Given the description of an element on the screen output the (x, y) to click on. 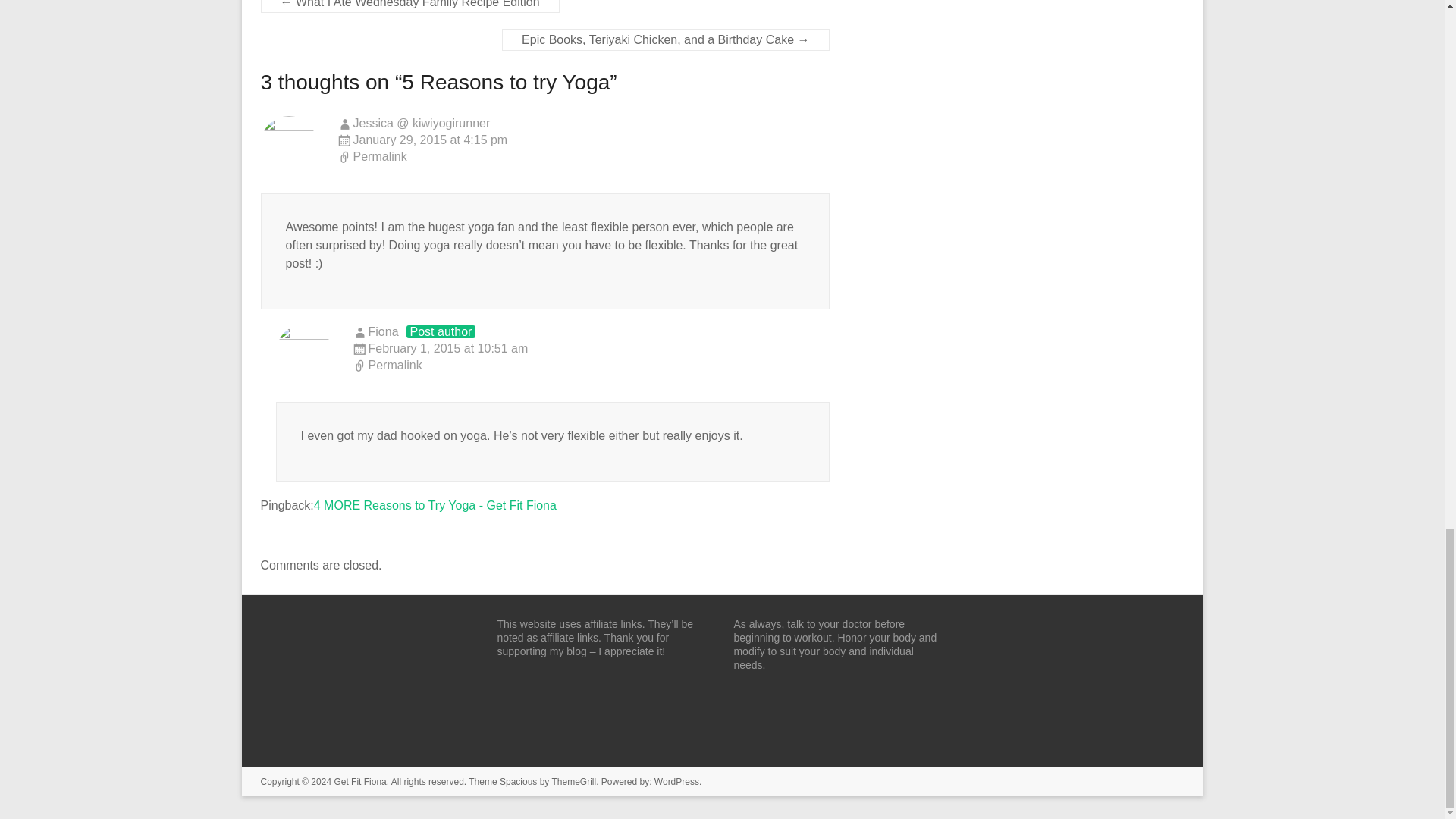
WordPress (675, 781)
Permalink (590, 365)
Spacious (518, 781)
Permalink (582, 157)
Get Fit Fiona (359, 781)
4 MORE Reasons to Try Yoga - Get Fit Fiona (435, 504)
